Given the description of an element on the screen output the (x, y) to click on. 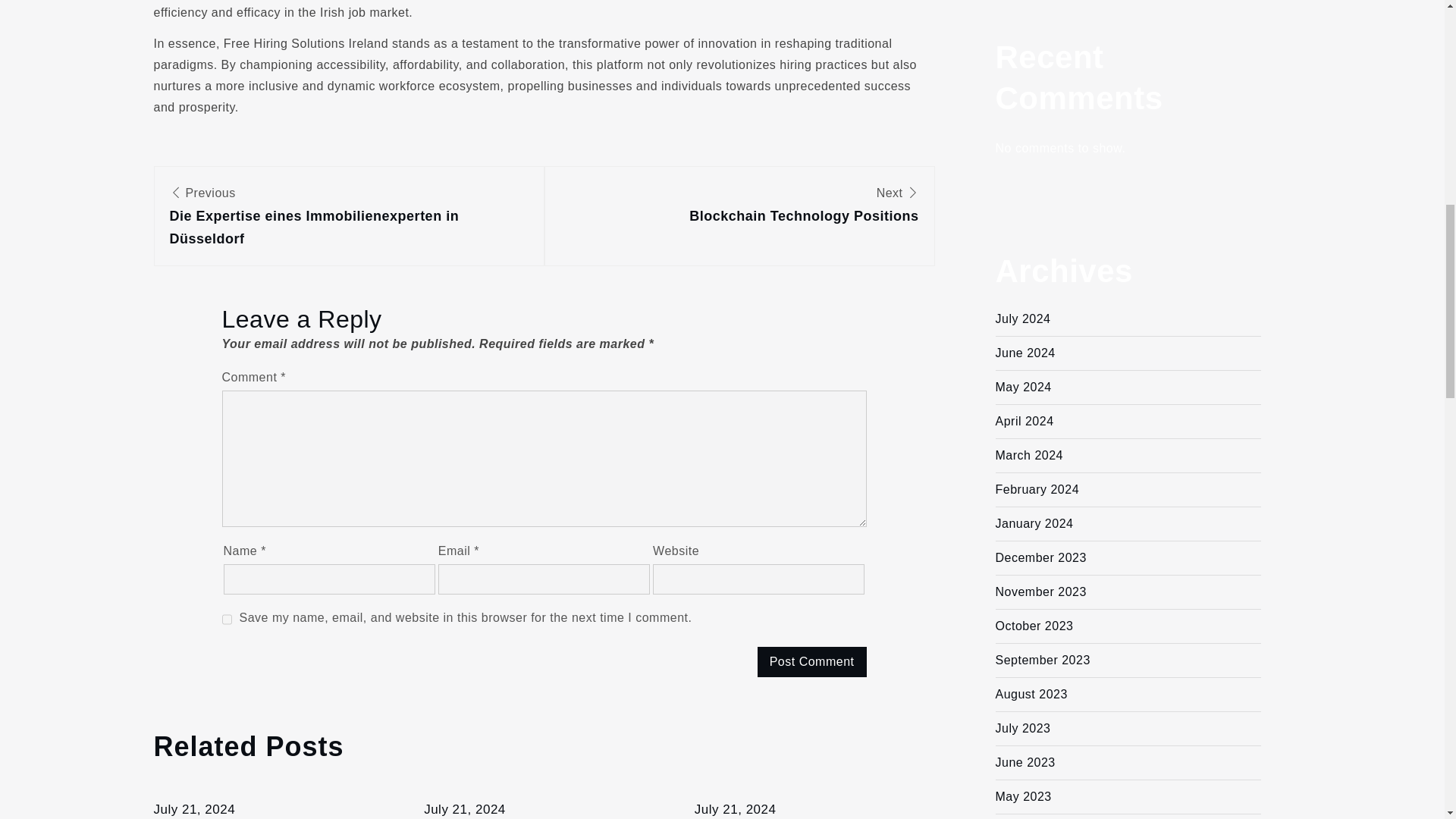
July 2024 (1021, 318)
June 2024 (1024, 352)
July 21, 2024 (464, 809)
July 21, 2024 (738, 206)
May 2024 (193, 809)
March 2024 (1022, 386)
July 21, 2024 (1028, 454)
Post Comment (735, 809)
February 2024 (811, 662)
April 2024 (1036, 489)
Post Comment (1023, 420)
